Given the description of an element on the screen output the (x, y) to click on. 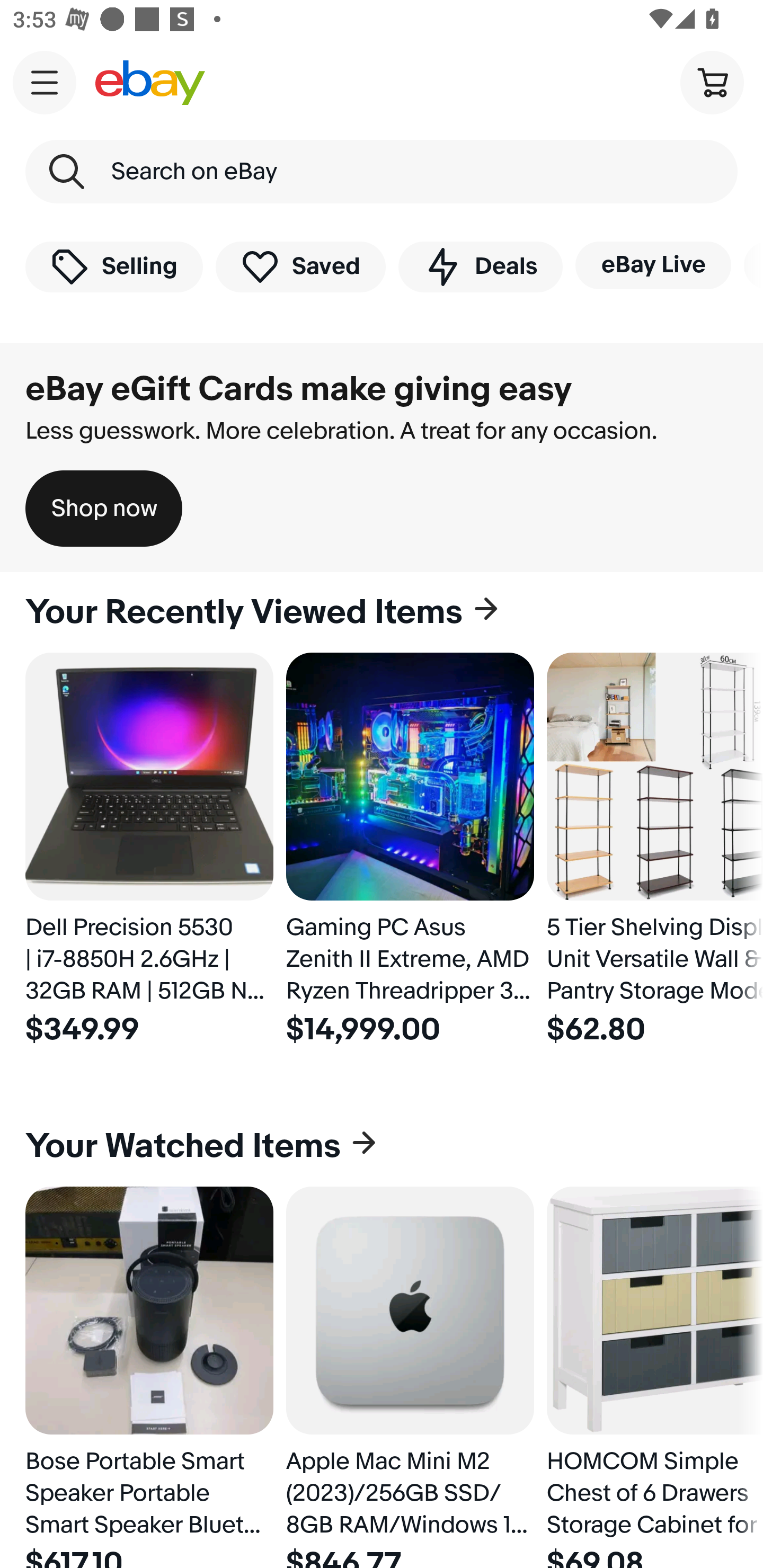
Main navigation, open (44, 82)
Cart button shopping cart (711, 81)
Search on eBay Search Keyword Search on eBay (381, 171)
Selling (113, 266)
Saved (300, 266)
Deals (480, 266)
eBay Live (652, 264)
eBay eGift Cards make giving easy (298, 389)
Shop now (103, 508)
Your Recently Viewed Items   (381, 612)
Your Watched Items   (381, 1145)
